Given the description of an element on the screen output the (x, y) to click on. 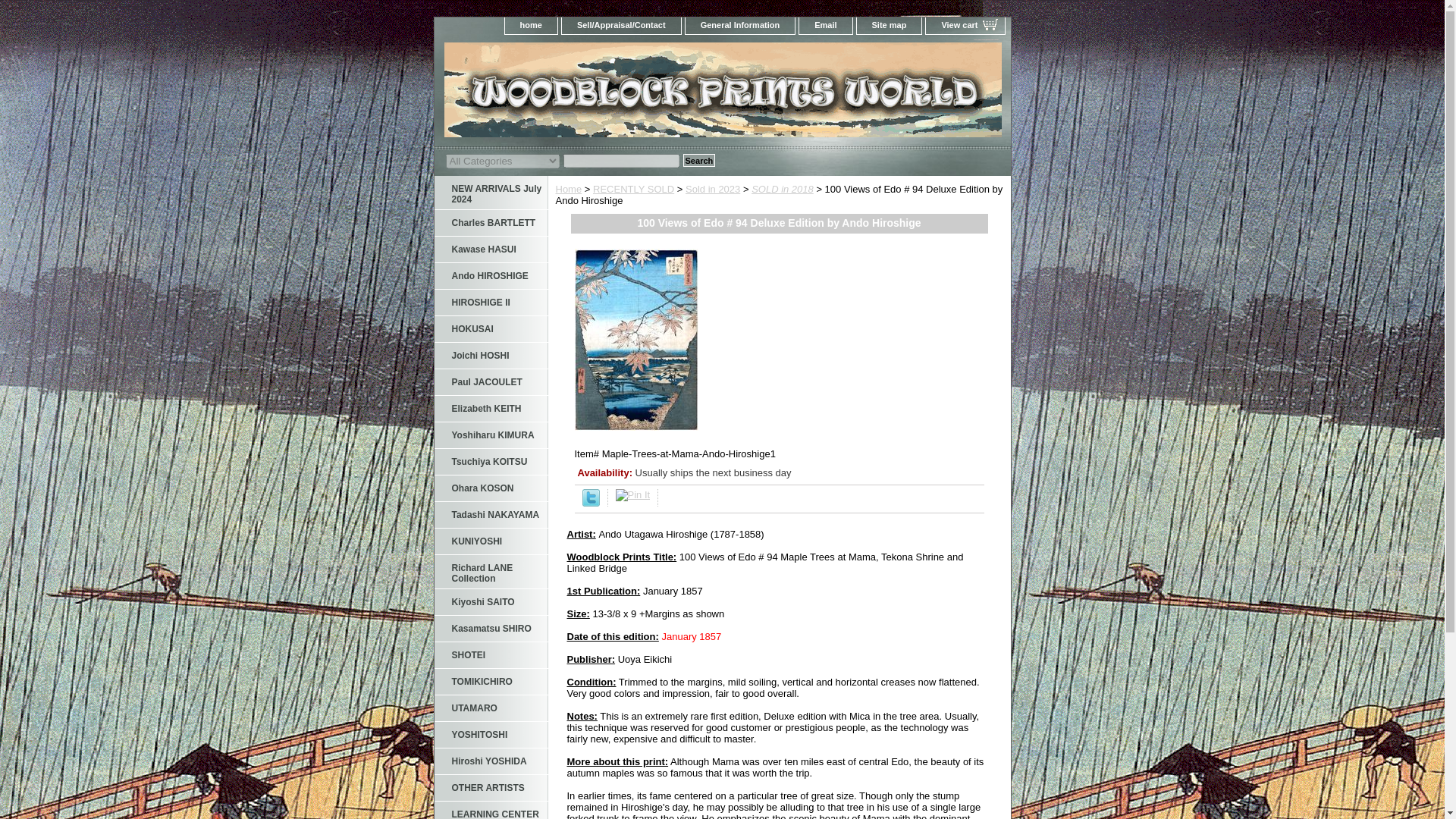
Charles BARTLETT (490, 222)
HIROSHIGE II (490, 302)
SOLD in 2018 (782, 188)
Kiyoshi SAITO (490, 601)
Site map (889, 25)
Elizabeth KEITH (490, 408)
Kawase HASUI (490, 249)
Search (698, 160)
HOKUSAI (490, 329)
Kiyoshi SAITO (490, 601)
View cart (965, 25)
OTHER ARTISTS (490, 787)
Yoshiharu KIMURA (490, 435)
Richard LANE Collection (490, 571)
Tadashi NAKAYAMA (490, 515)
